Given the description of an element on the screen output the (x, y) to click on. 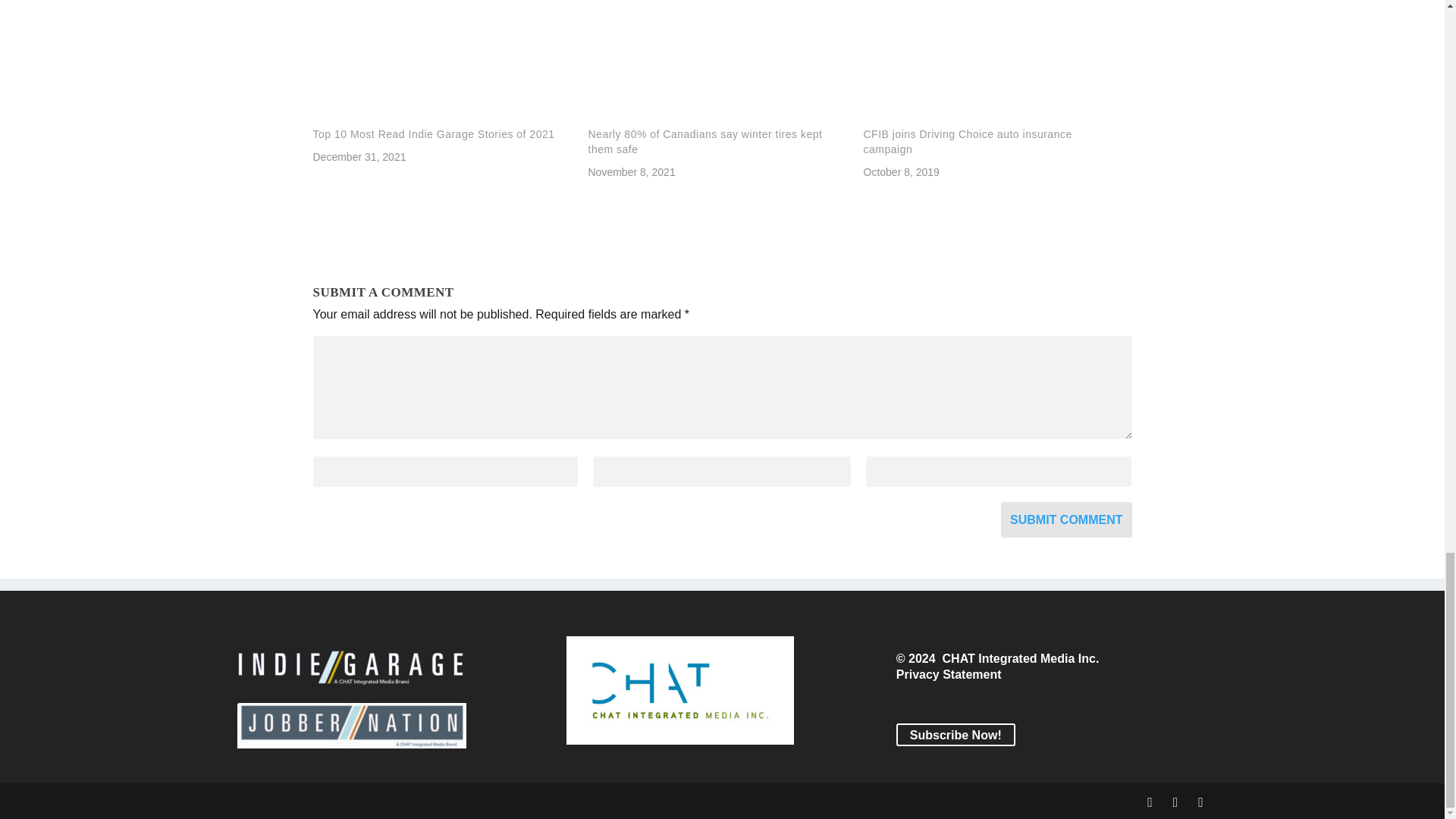
SUBMIT COMMENT (1066, 519)
Top 10 Most Read Indie Garage Stories of 2021 (433, 133)
CFIB joins Driving Choice auto insurance campaign (967, 141)
Top 10 Most Read Indie Garage Stories of 2021 (442, 63)
Top 10 Most Read Indie Garage Stories of 2021 (433, 133)
CFIB joins Driving Choice auto insurance campaign (967, 141)
CFIB joins Driving Choice auto insurance campaign (992, 63)
